Given the description of an element on the screen output the (x, y) to click on. 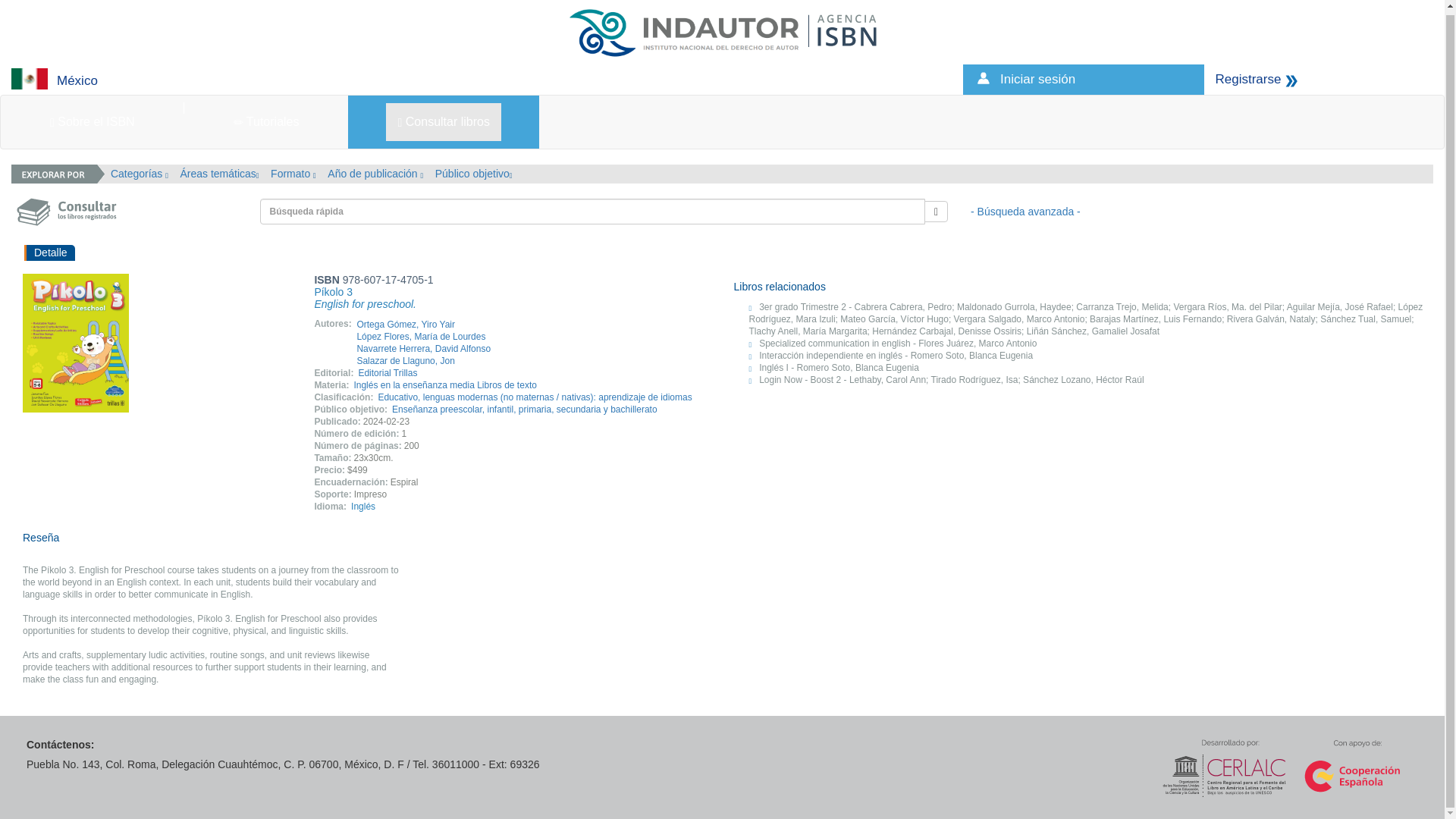
Tutoriales (266, 121)
Registrarse (1247, 79)
Sobre el ISBN (93, 121)
Consultar libros (442, 121)
Formato (292, 173)
